Given the description of an element on the screen output the (x, y) to click on. 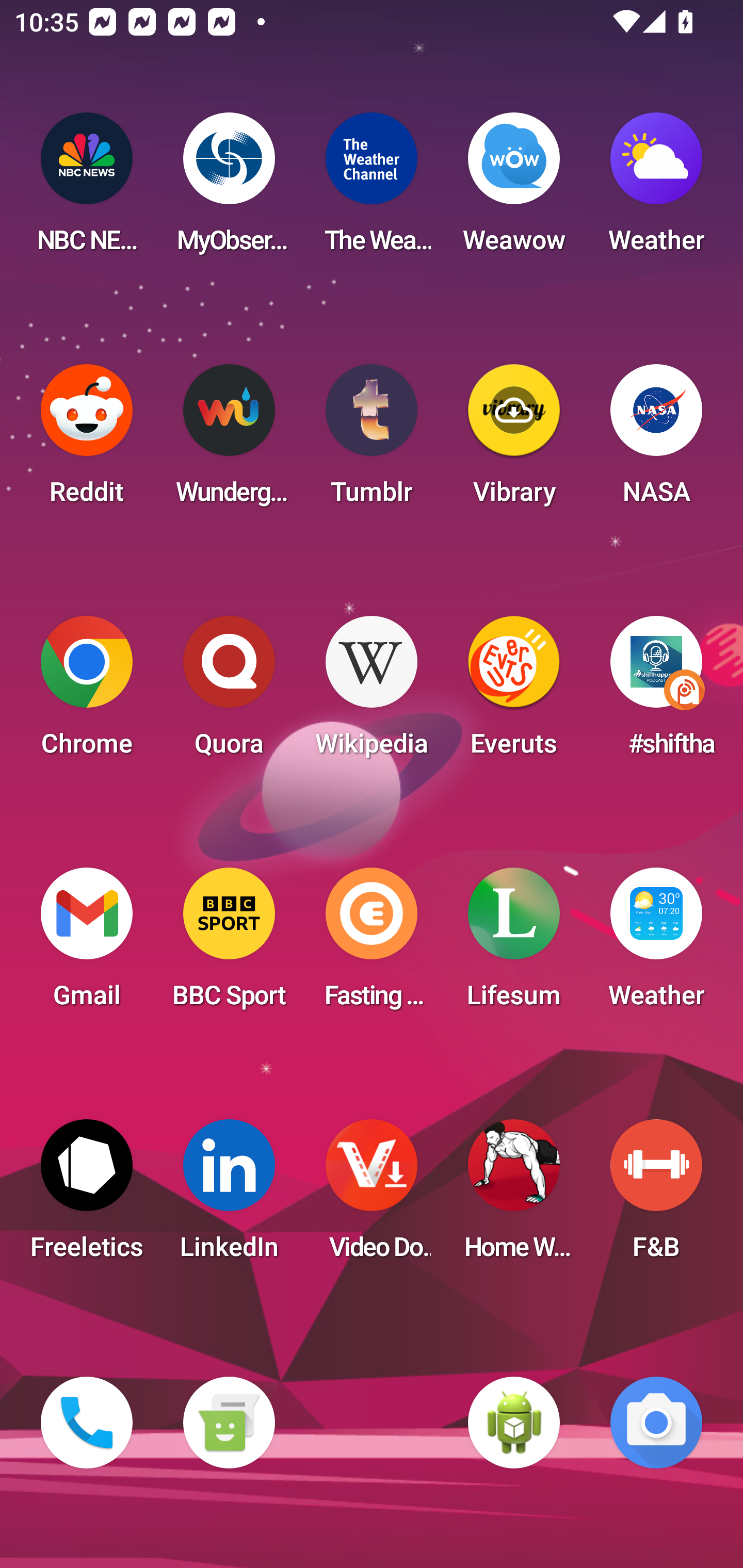
NBC NEWS (86, 188)
MyObservatory (228, 188)
The Weather Channel (371, 188)
Weawow (513, 188)
Weather (656, 188)
Reddit (86, 440)
Wunderground (228, 440)
Tumblr (371, 440)
Vibrary (513, 440)
NASA (656, 440)
Chrome (86, 692)
Quora (228, 692)
Wikipedia (371, 692)
Everuts (513, 692)
#shifthappens in the Digital Workplace Podcast (656, 692)
Gmail (86, 943)
BBC Sport (228, 943)
Fasting Coach (371, 943)
Lifesum (513, 943)
Weather (656, 943)
Freeletics (86, 1195)
LinkedIn (228, 1195)
Video Downloader & Ace Player (371, 1195)
Home Workout (513, 1195)
F&B (656, 1195)
Phone (86, 1422)
Messaging (228, 1422)
WebView Browser Tester (513, 1422)
Camera (656, 1422)
